Given the description of an element on the screen output the (x, y) to click on. 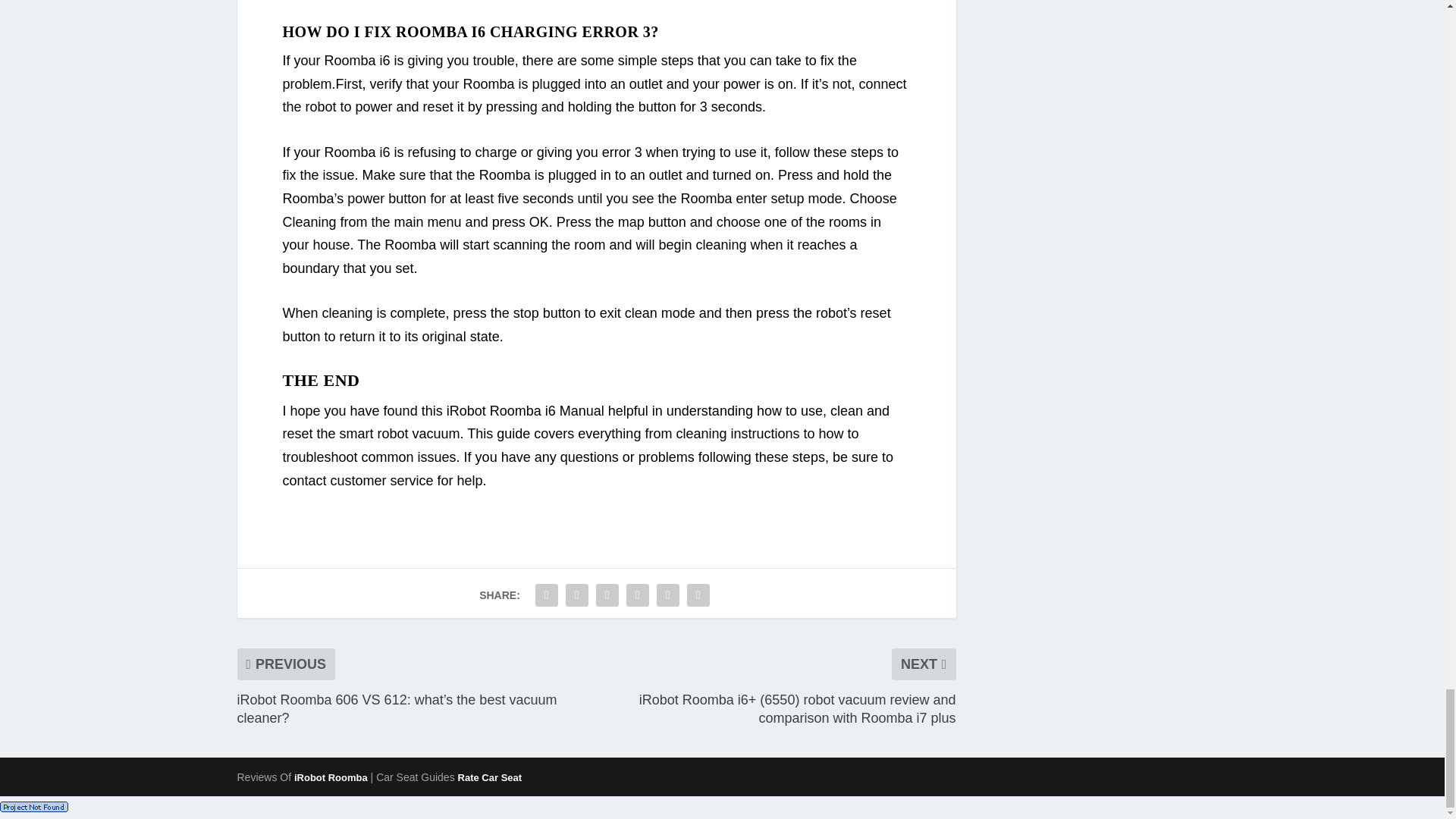
iRobot Roomba (331, 777)
